Given the description of an element on the screen output the (x, y) to click on. 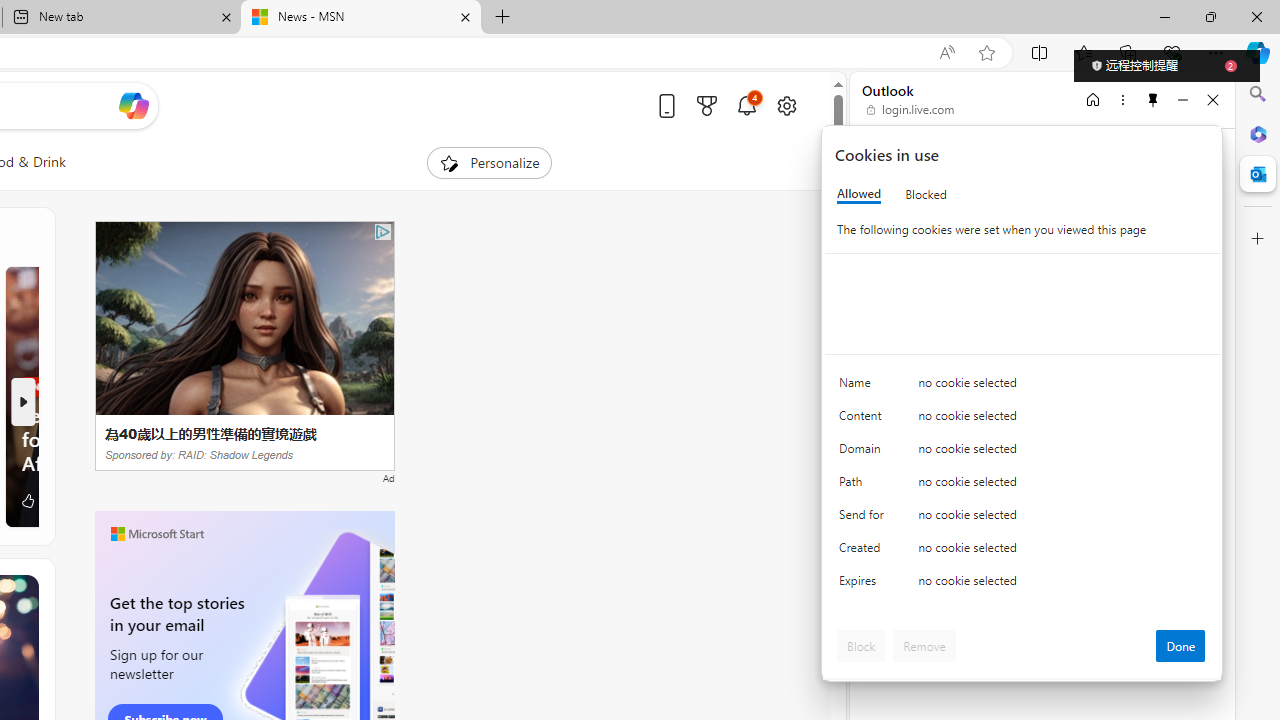
Content (864, 420)
To get missing image descriptions, open the context menu. (449, 162)
Allowed (859, 193)
Domain (864, 452)
News - MSN (360, 17)
Microsoft rewards (707, 105)
login.live.com (911, 110)
Outlook (1258, 174)
Path (864, 485)
Blocked (925, 193)
Done (1179, 645)
